Given the description of an element on the screen output the (x, y) to click on. 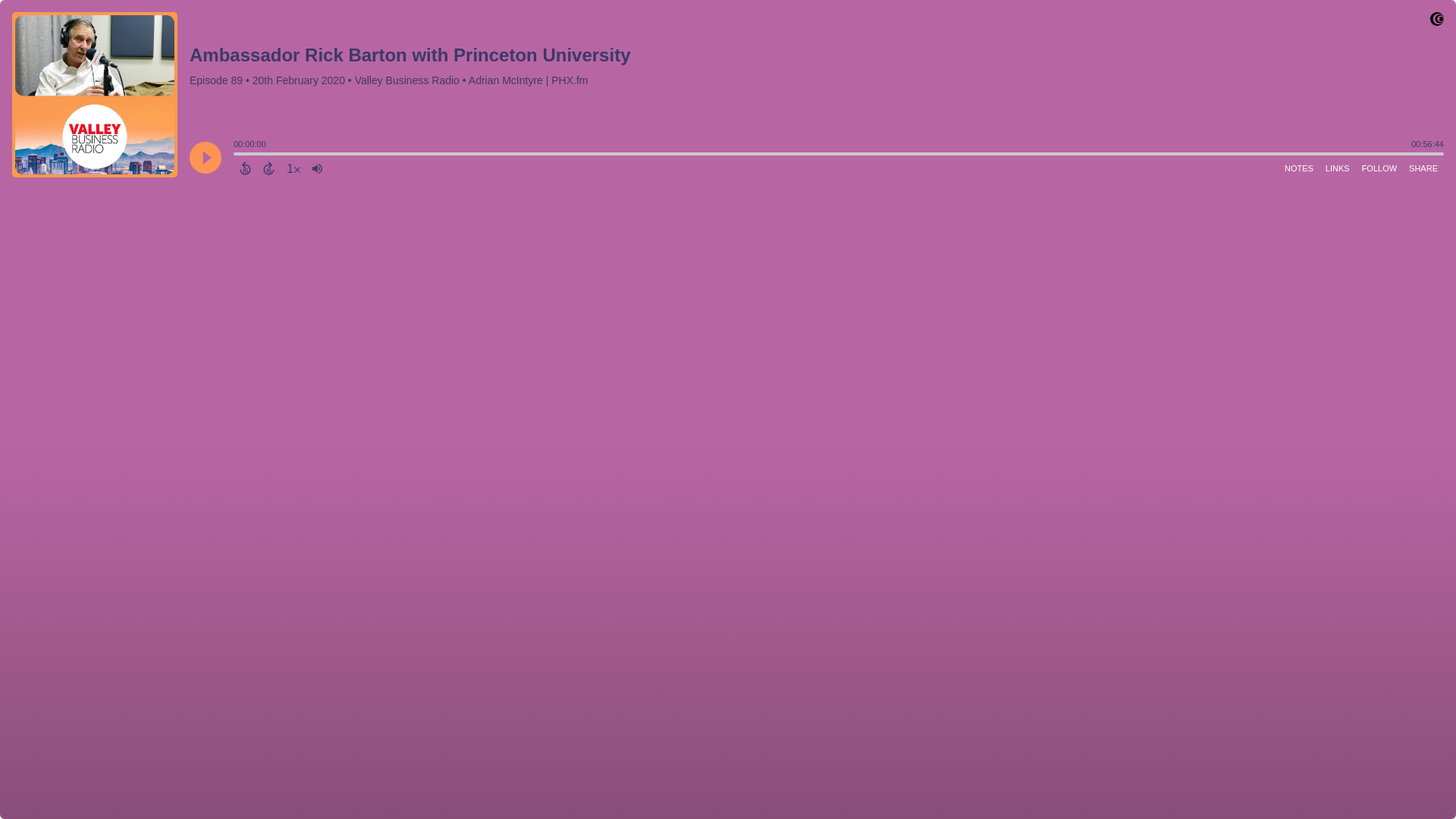
LINKS (1337, 167)
1 (293, 167)
FOLLOW (1379, 167)
NOTES (1298, 167)
SHARE (1423, 167)
